Given the description of an element on the screen output the (x, y) to click on. 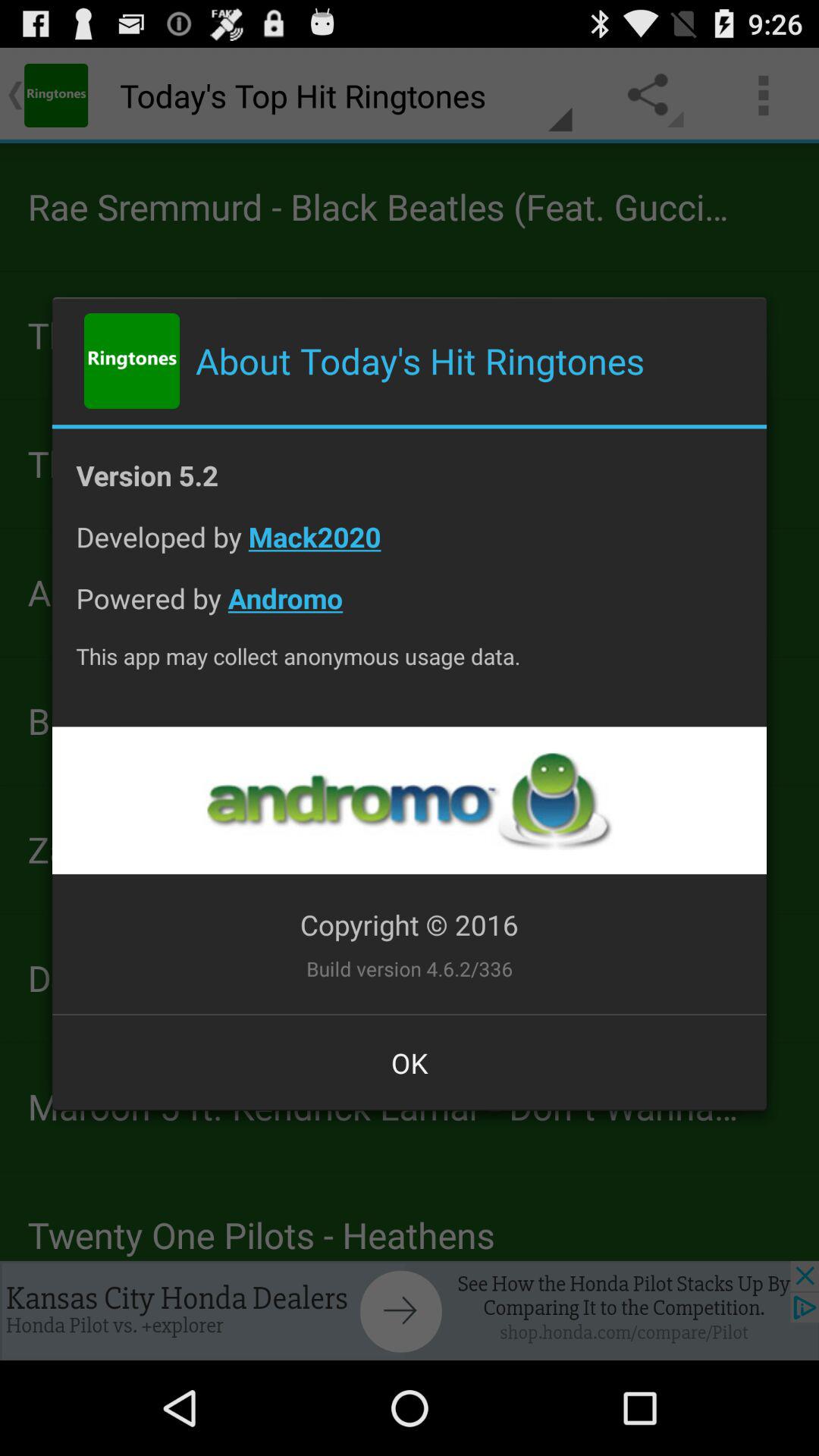
scroll to powered by andromo app (409, 609)
